Given the description of an element on the screen output the (x, y) to click on. 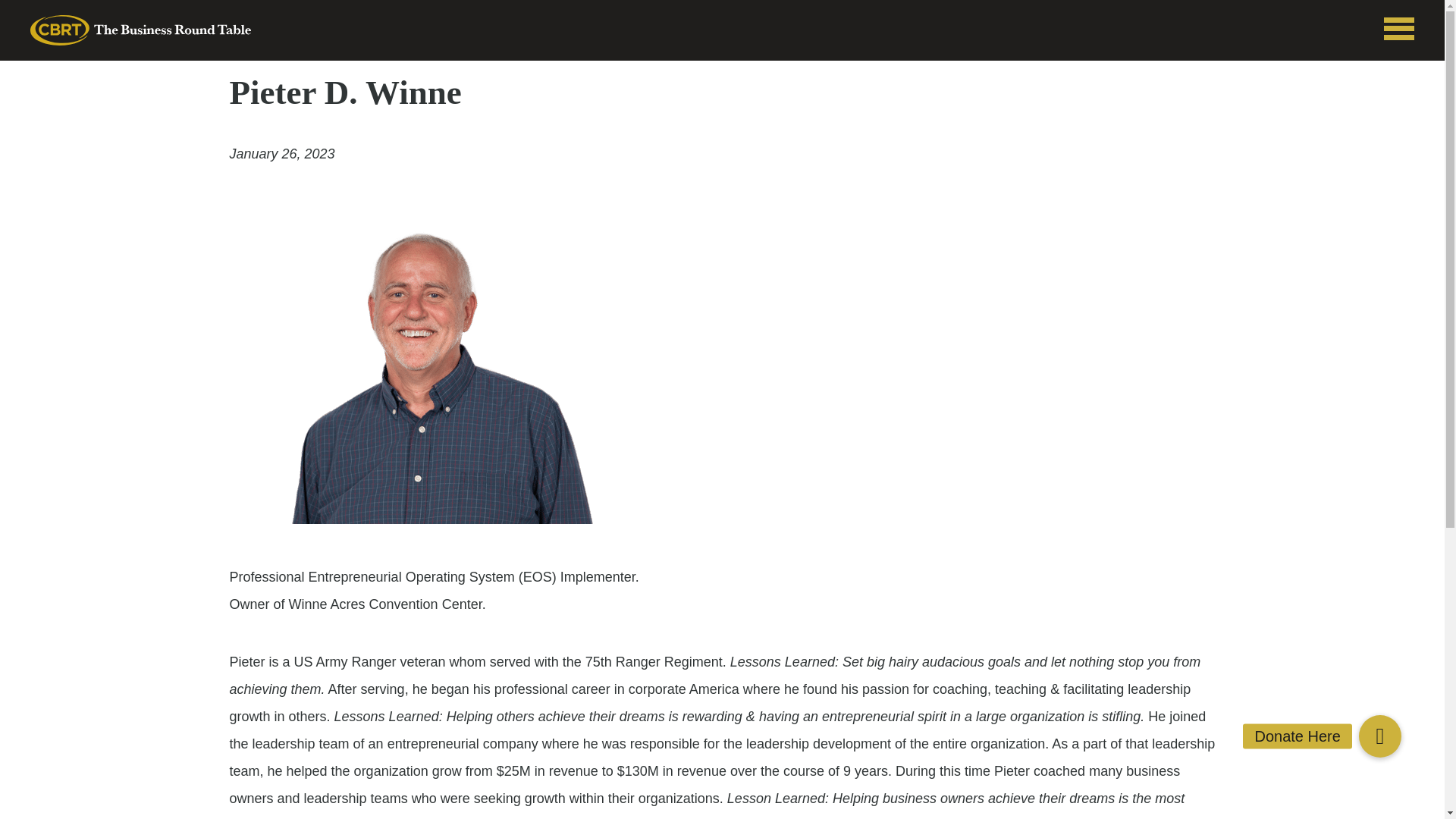
Donate Here (1379, 735)
